Given the description of an element on the screen output the (x, y) to click on. 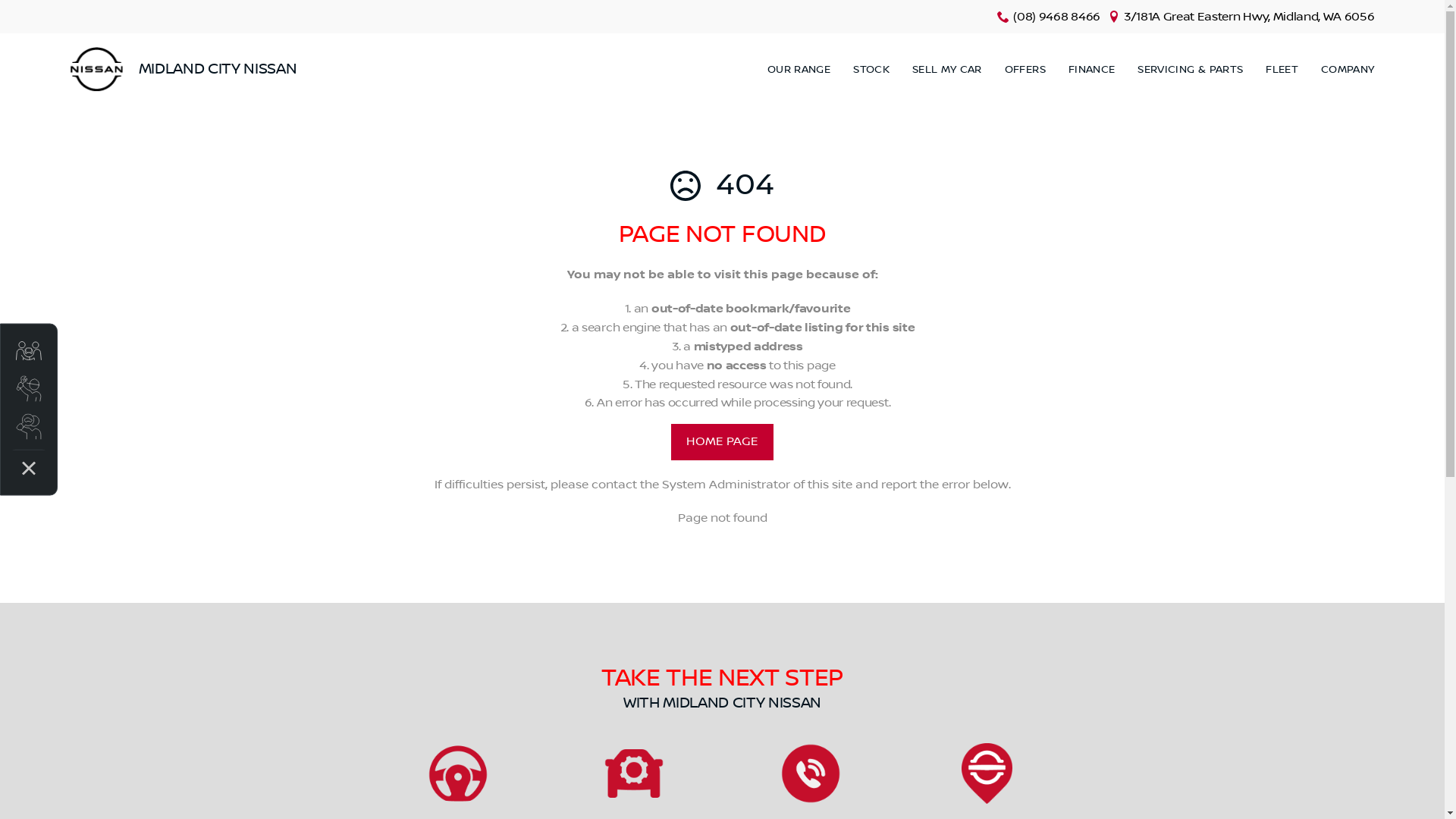
FLEET Element type: text (1281, 69)
STOCK Element type: text (870, 69)
SELL MY CAR Element type: text (946, 69)
SERVICING & PARTS Element type: text (1190, 69)
3/181A Great Eastern Hwy, Midland, WA 6056 Element type: text (1248, 16)
HOME PAGE Element type: text (722, 441)
MIDLAND CITY NISSAN Element type: text (182, 69)
FINANCE Element type: text (1091, 69)
OFFERS Element type: text (1025, 69)
COMPANY Element type: text (1341, 69)
(08) 9468 8466 Element type: text (1056, 16)
OUR RANGE Element type: text (798, 69)
